Given the description of an element on the screen output the (x, y) to click on. 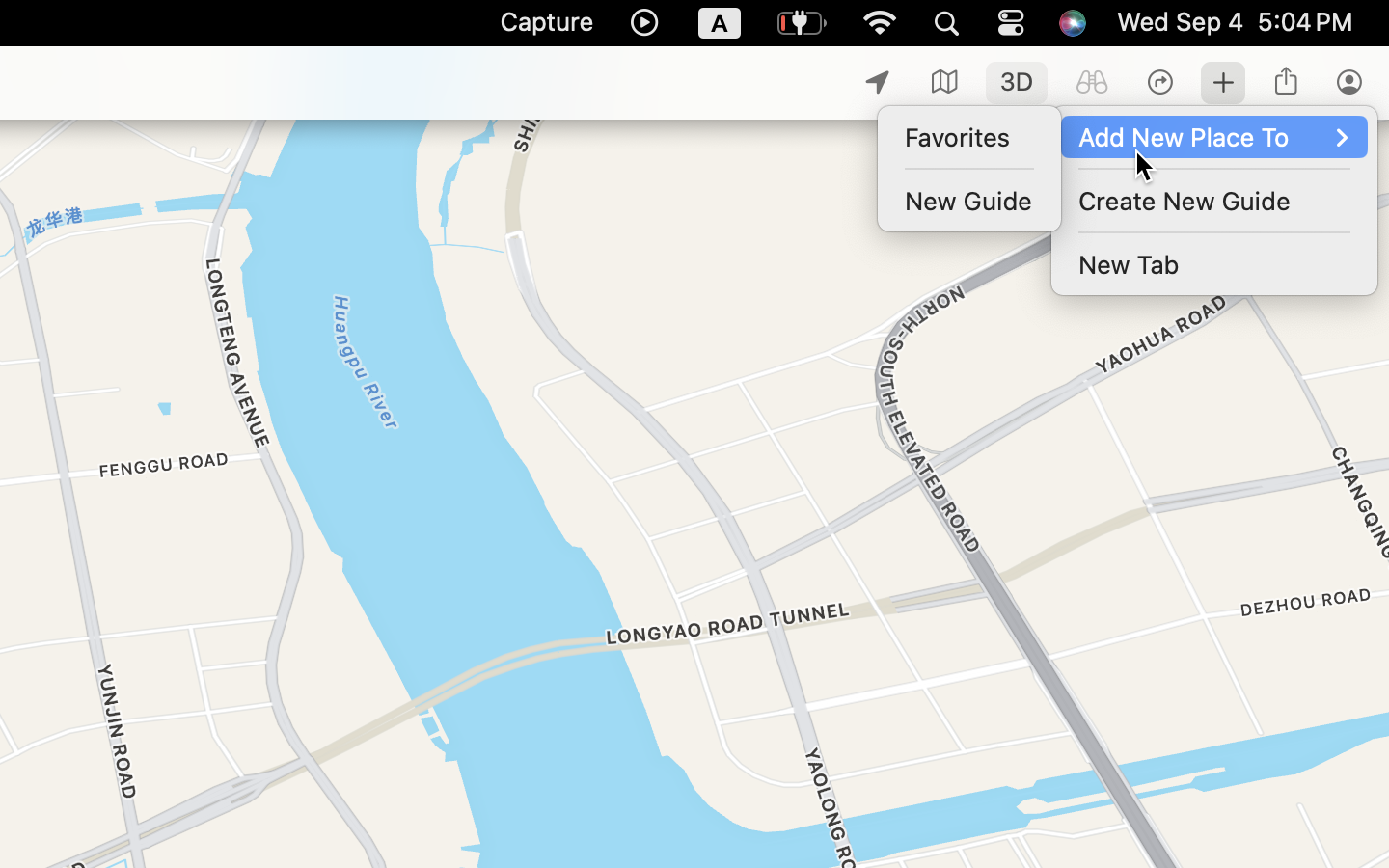
1 Element type: AXCheckBox (1016, 82)
0 Element type: AXCheckBox (1091, 82)
